Given the description of an element on the screen output the (x, y) to click on. 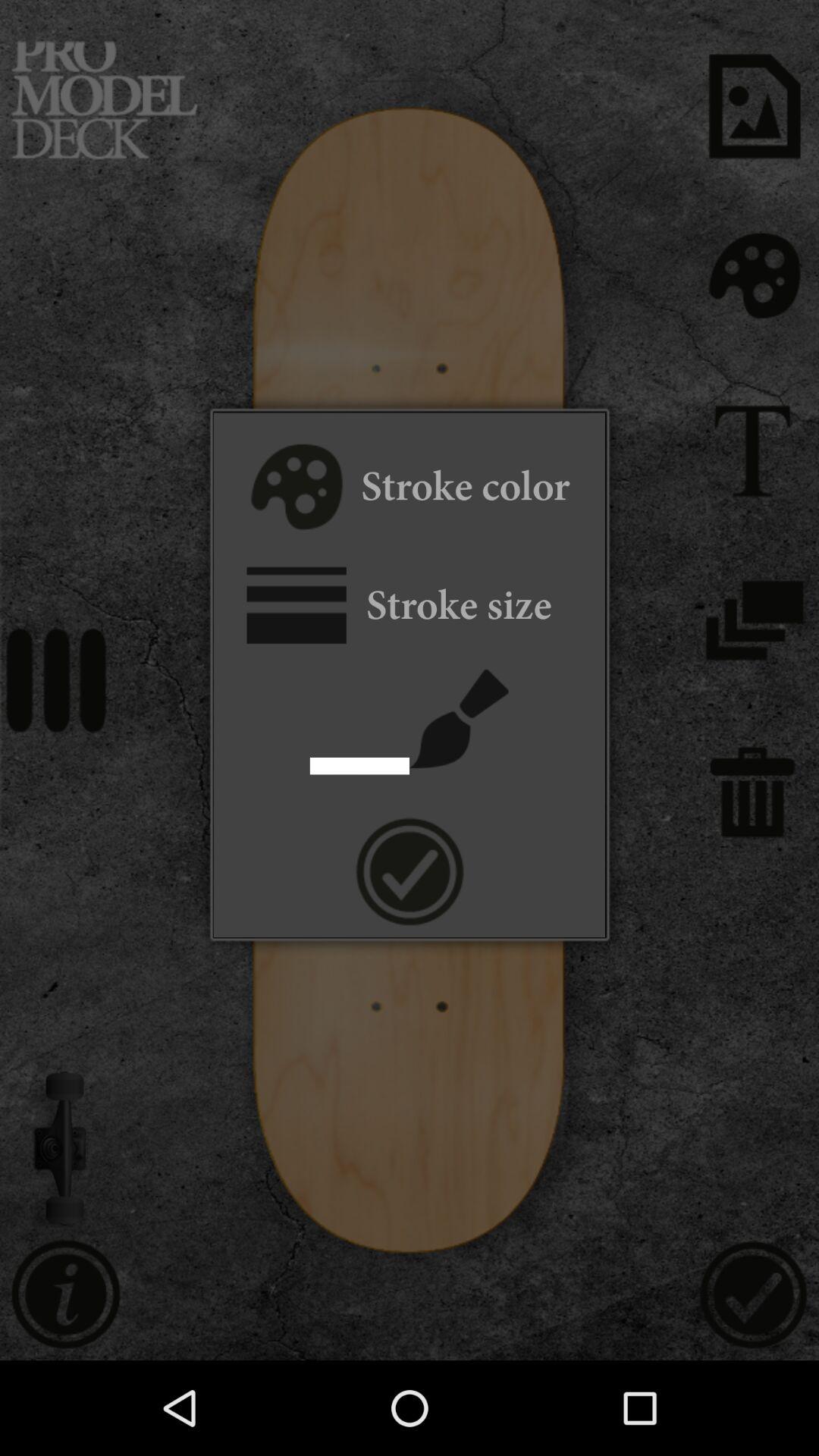
stroke color (294, 489)
